Given the description of an element on the screen output the (x, y) to click on. 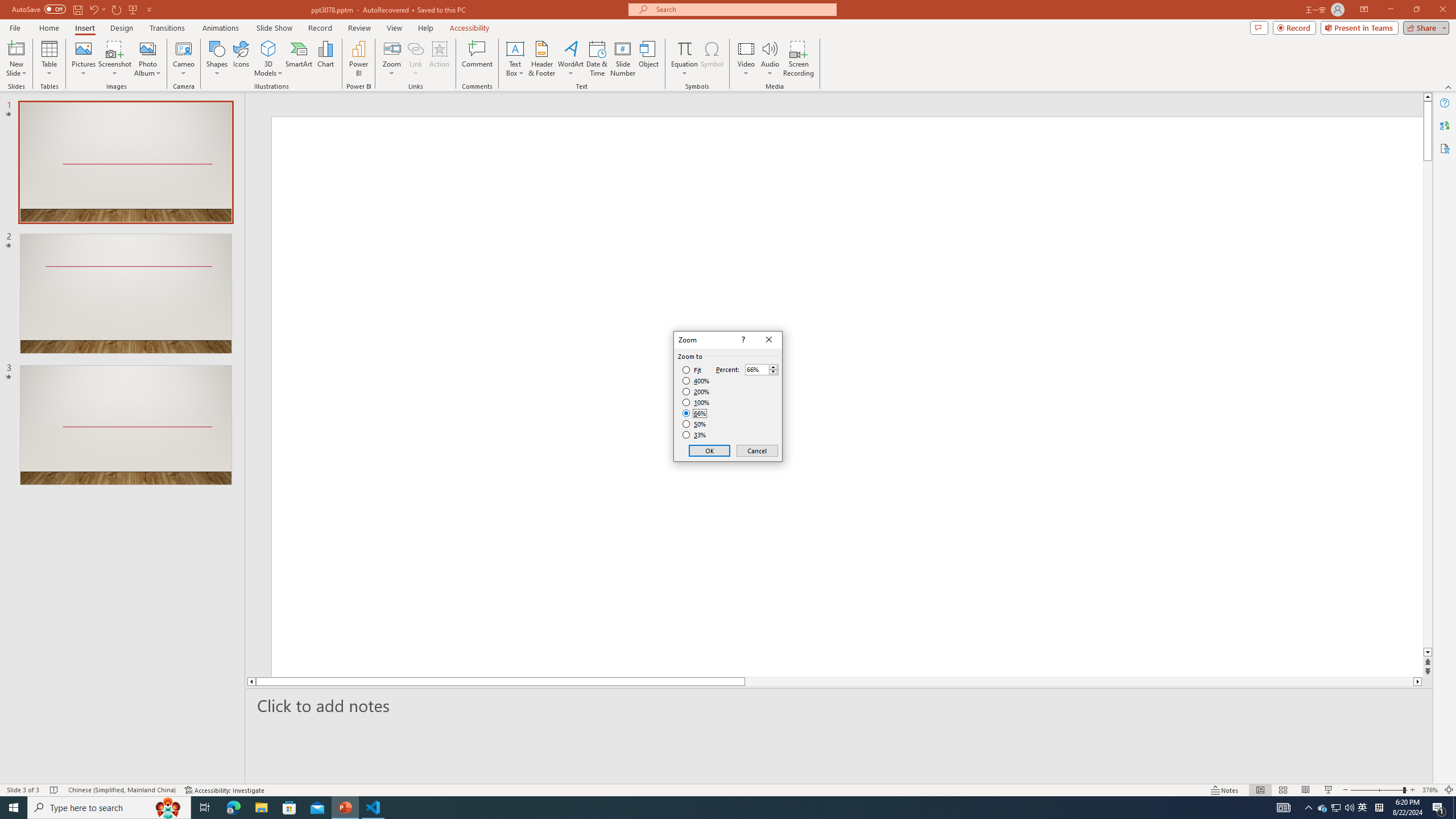
Percent (756, 369)
Link (415, 48)
OK (709, 450)
Show desktop (1454, 807)
More (772, 366)
Table (49, 58)
Running applications (700, 807)
Pictures (83, 58)
Shapes (216, 58)
SmartArt... (298, 58)
